Given the description of an element on the screen output the (x, y) to click on. 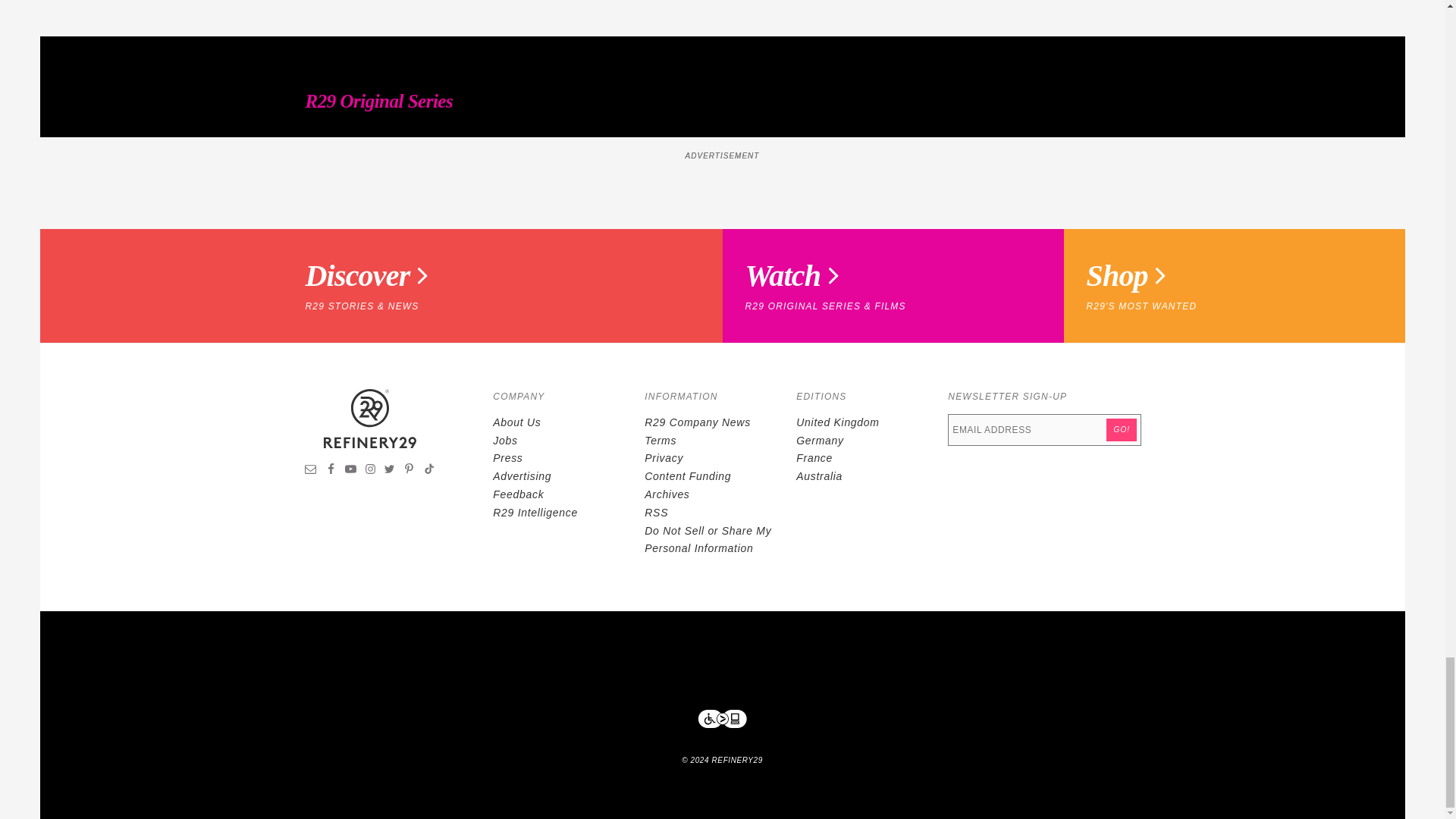
Visit Refinery29 on YouTube (350, 470)
Sign up for newsletters (310, 470)
Visit Refinery29 on TikTok (428, 470)
